Given the description of an element on the screen output the (x, y) to click on. 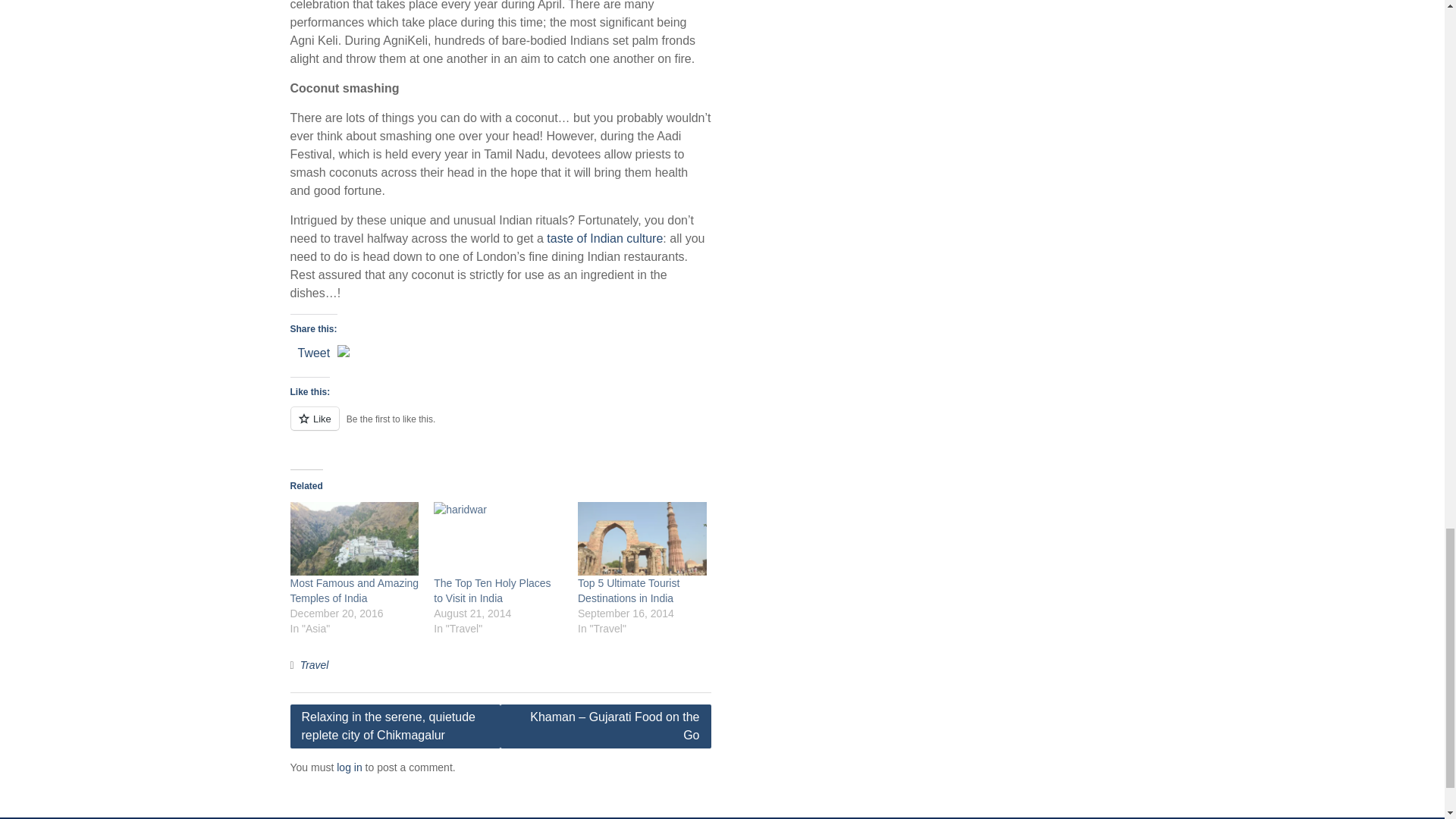
Most Famous and Amazing Temples of India (354, 538)
Top 5 Ultimate Tourist Destinations in India (642, 538)
Like or Reblog (499, 426)
The Top Ten Holy Places to Visit in India (491, 590)
Top 5 Ultimate Tourist Destinations in India (628, 590)
The Top Ten Holy Places to Visit in India (497, 538)
Most Famous and Amazing Temples of India (354, 590)
